Given the description of an element on the screen output the (x, y) to click on. 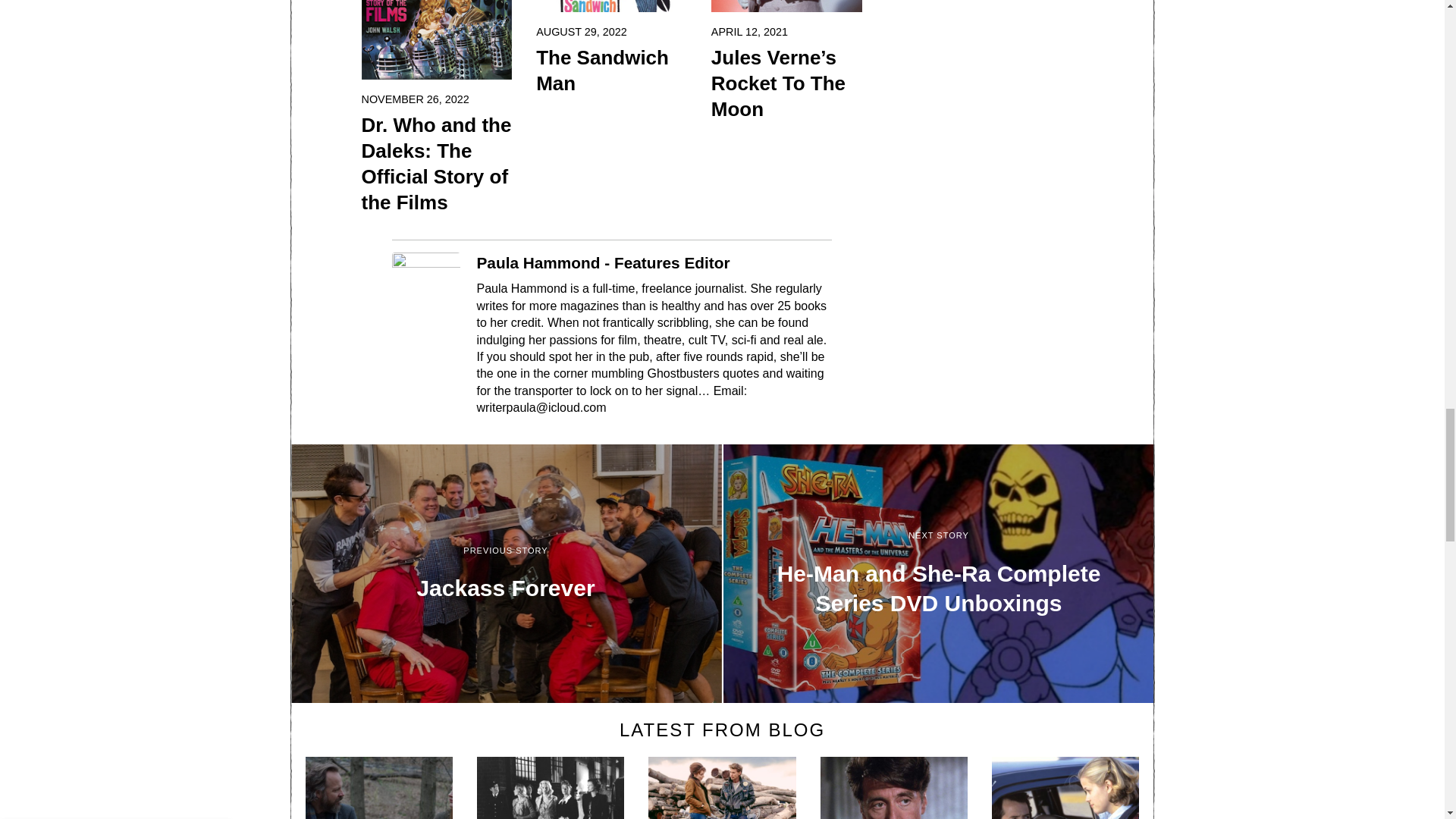
Paula Hammond - Features Editor (602, 262)
29 Aug, 2022 12:45:56 (581, 31)
Dr. Who and the Daleks: The Official Story of the Films (436, 164)
12 Apr, 2021 11:57:22 (749, 31)
26 Nov, 2022 10:56:53 (414, 99)
The Sandwich Man (611, 71)
